Given the description of an element on the screen output the (x, y) to click on. 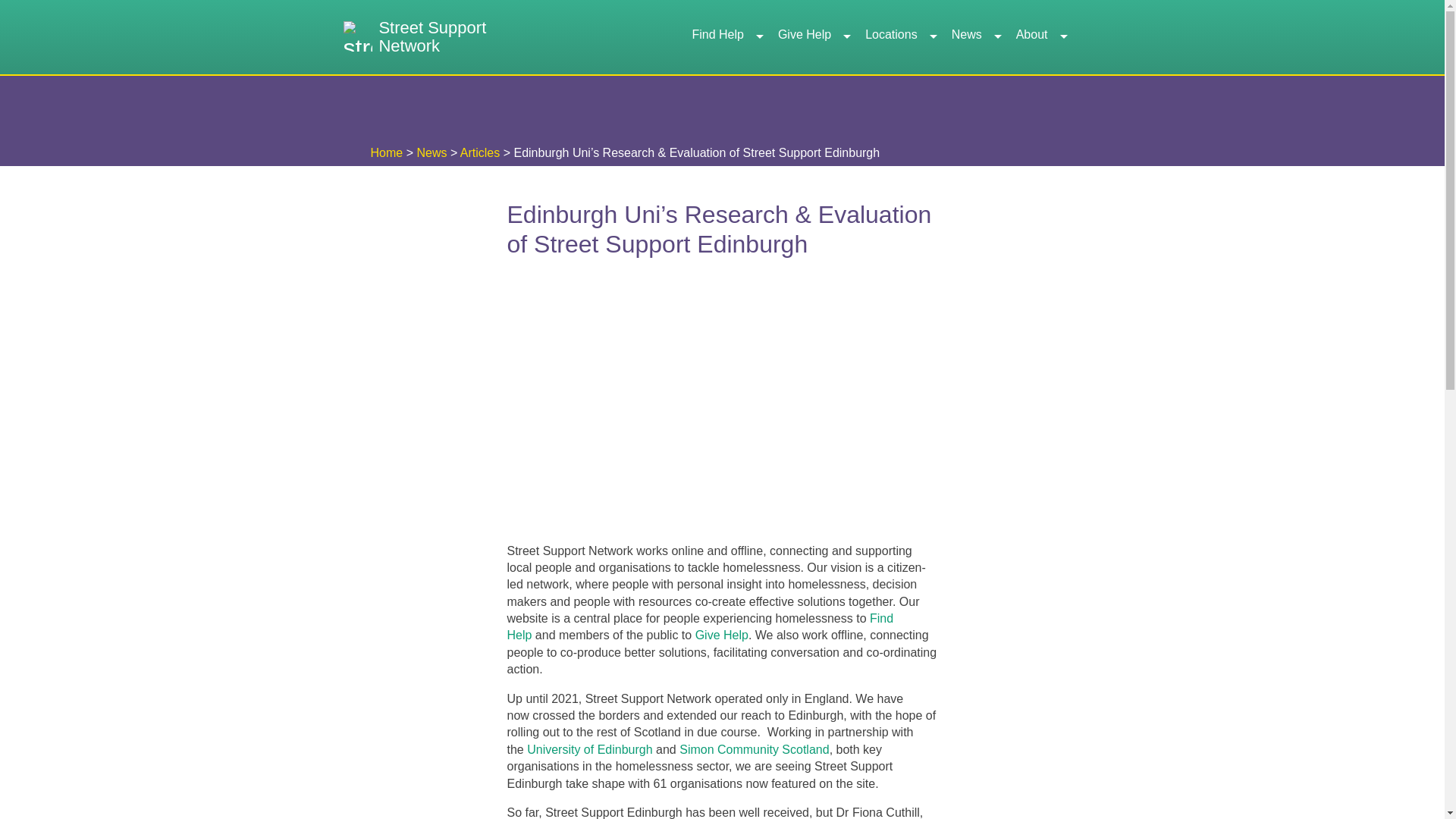
YouTube video player (718, 405)
Locations (900, 37)
Find Help (727, 37)
Give Help (813, 37)
